Given the description of an element on the screen output the (x, y) to click on. 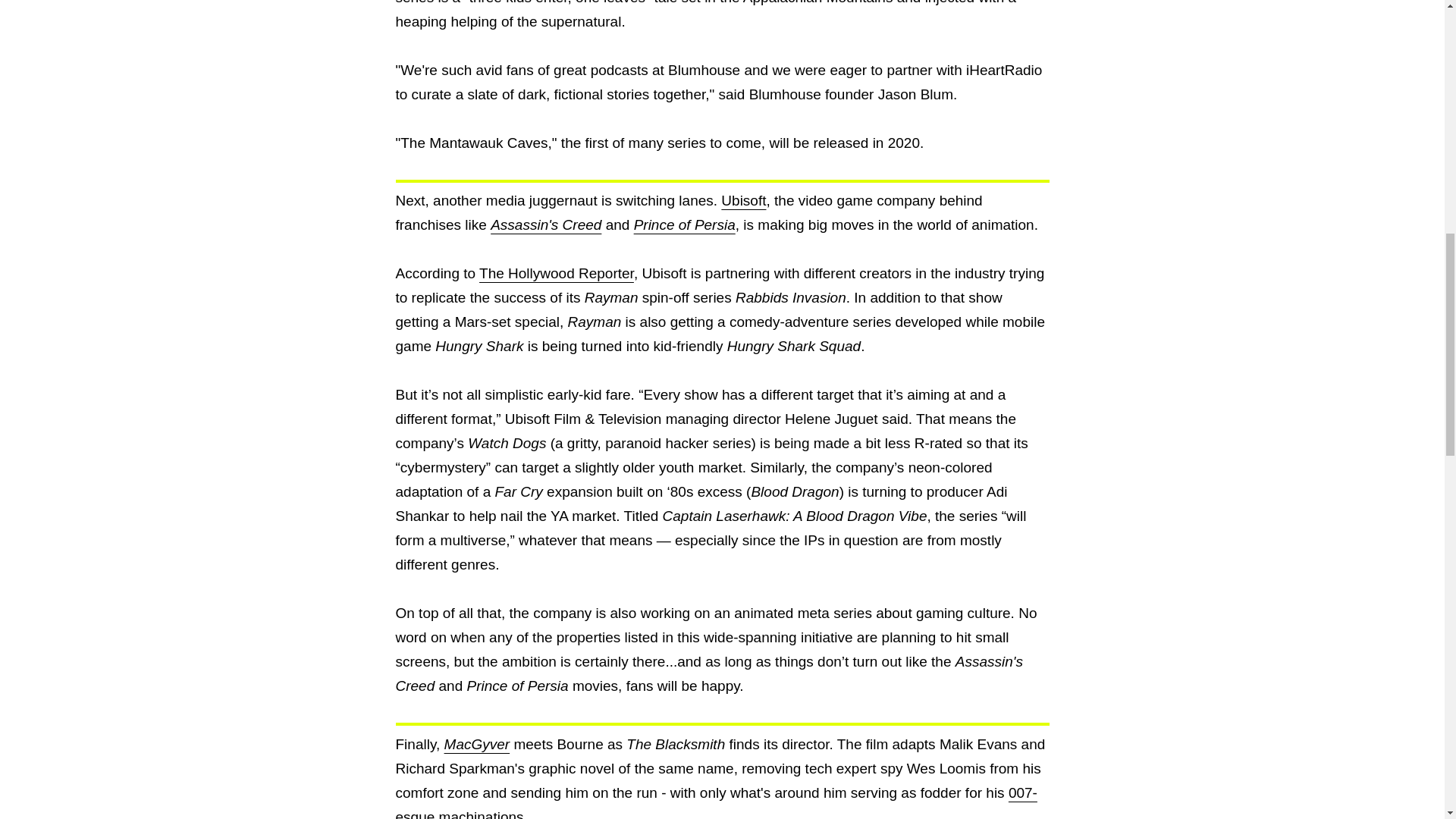
MacGyver (477, 744)
007-esque (716, 801)
The Hollywood Reporter (556, 273)
Ubisoft (742, 200)
Prince of Persia (684, 224)
Assassin's Creed (545, 224)
